Given the description of an element on the screen output the (x, y) to click on. 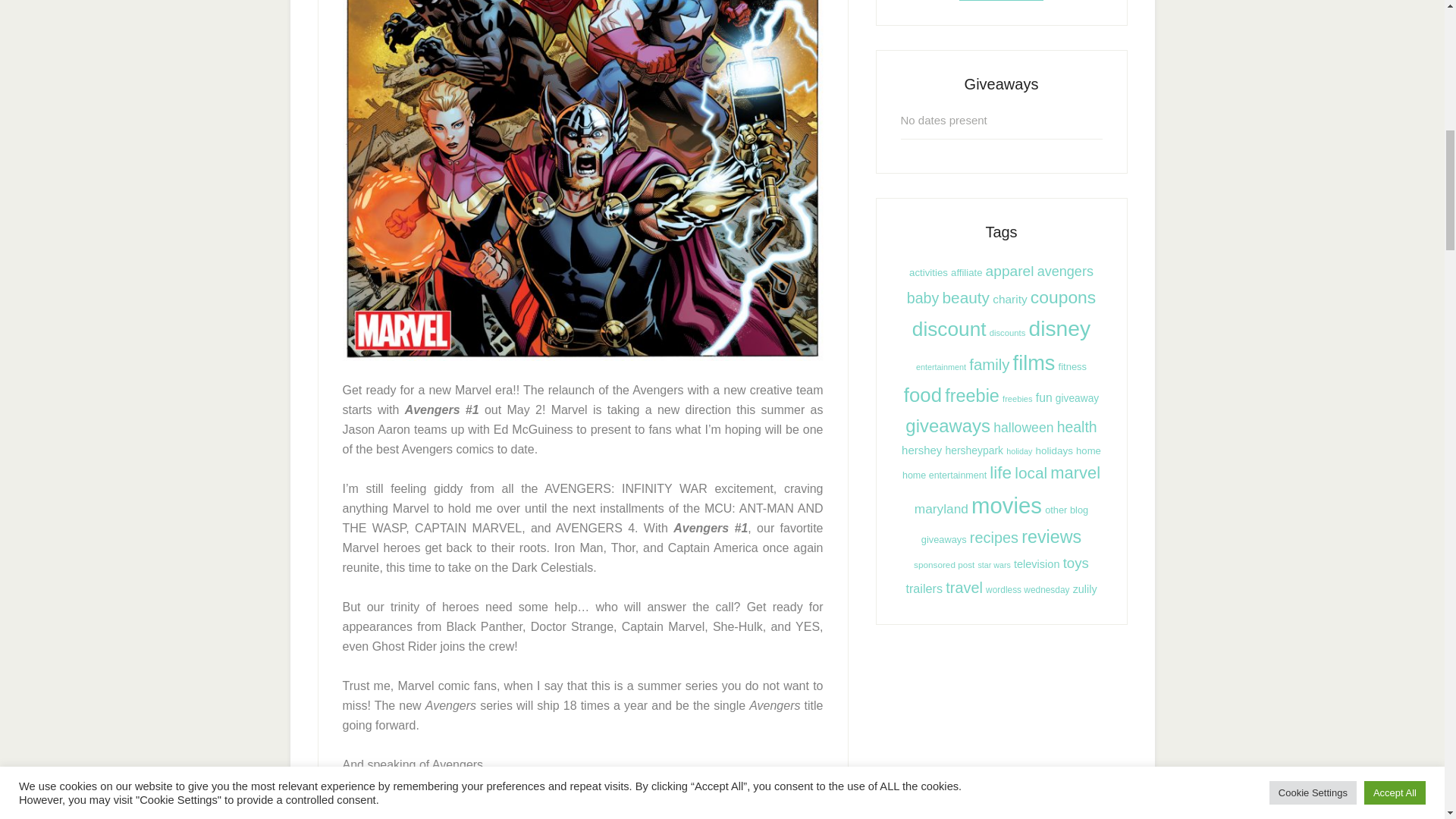
SPOILER-FREE review (408, 818)
